Given the description of an element on the screen output the (x, y) to click on. 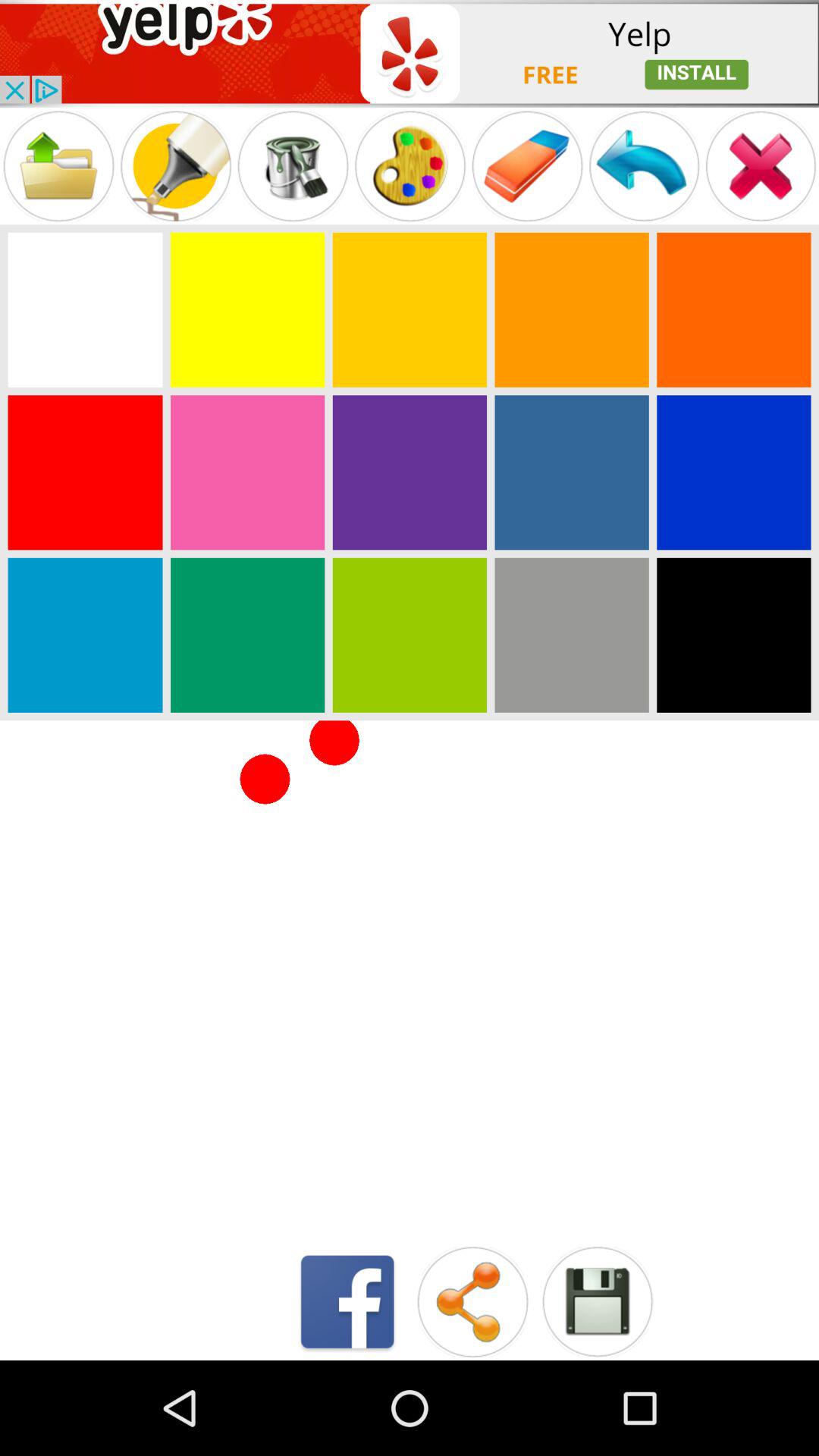
share the fill in seen (472, 1301)
